Given the description of an element on the screen output the (x, y) to click on. 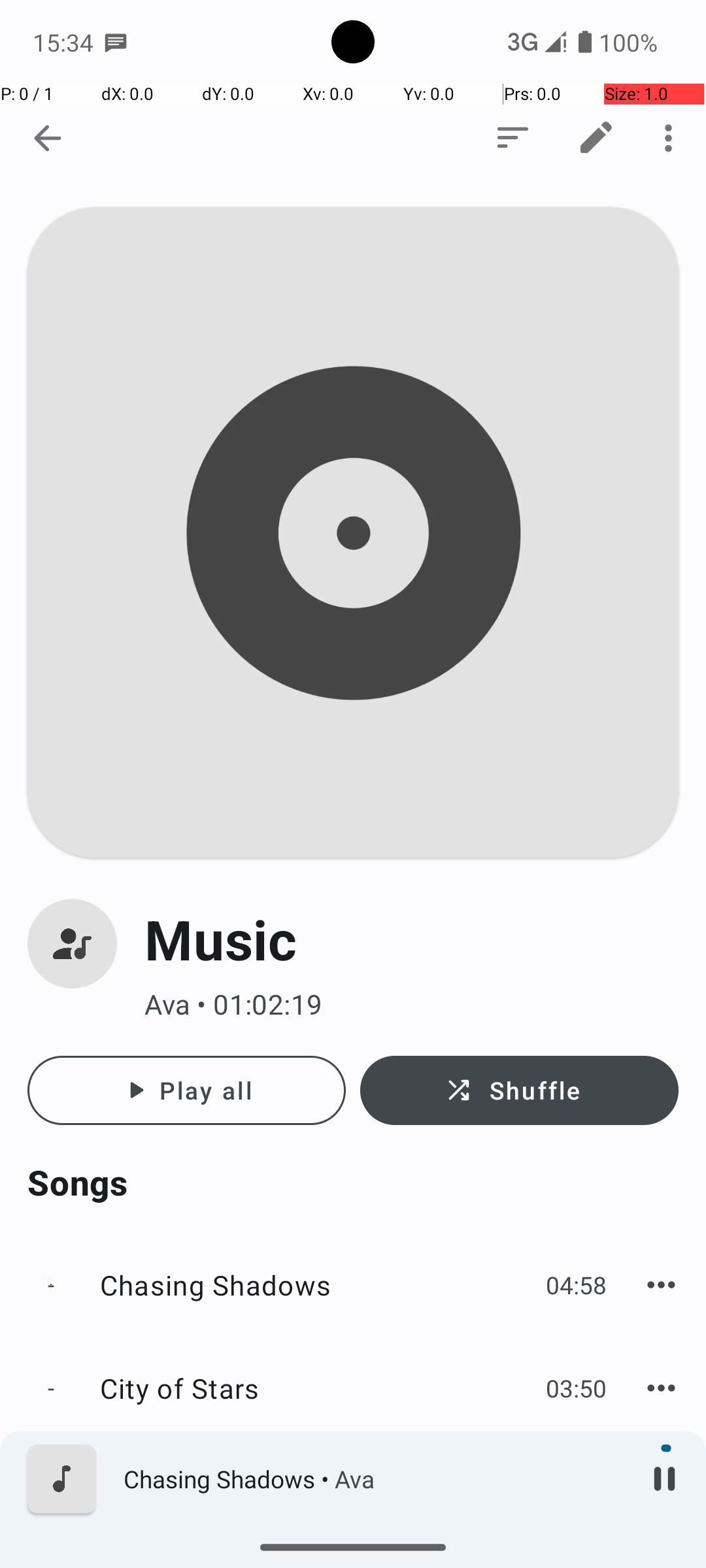
  Element type: android.widget.TextView (127, 138)
Sort order Element type: android.widget.Button (512, 137)
Tag editor Element type: android.widget.Button (595, 137)
Music Element type: android.widget.TextView (411, 939)
Ava • 01:02:19 Element type: android.widget.TextView (411, 1004)
Play all Element type: android.widget.Button (186, 1090)
Chasing Shadows • Ava Element type: android.widget.TextView (372, 1478)
- Element type: android.widget.TextView (50, 1284)
Chasing Shadows Element type: android.widget.TextView (315, 1284)
04:58 Element type: android.widget.TextView (576, 1284)
City of Stars Element type: android.widget.TextView (315, 1387)
03:50 Element type: android.widget.TextView (576, 1387)
Distant Memories Element type: android.widget.TextView (315, 1490)
04:05 Element type: android.widget.TextView (576, 1490)
04:06 Element type: android.widget.TextView (576, 1566)
